Given the description of an element on the screen output the (x, y) to click on. 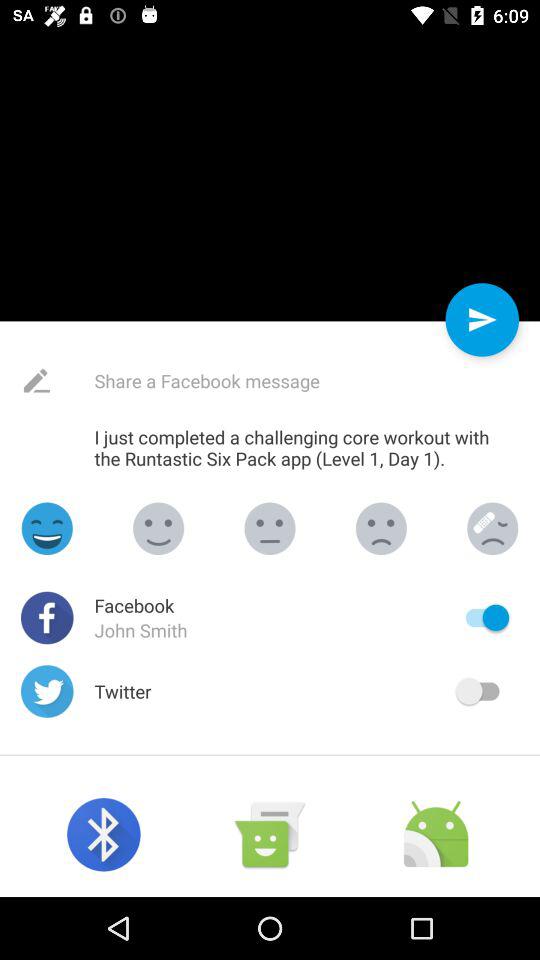
insert sadness emoticon (381, 528)
